Given the description of an element on the screen output the (x, y) to click on. 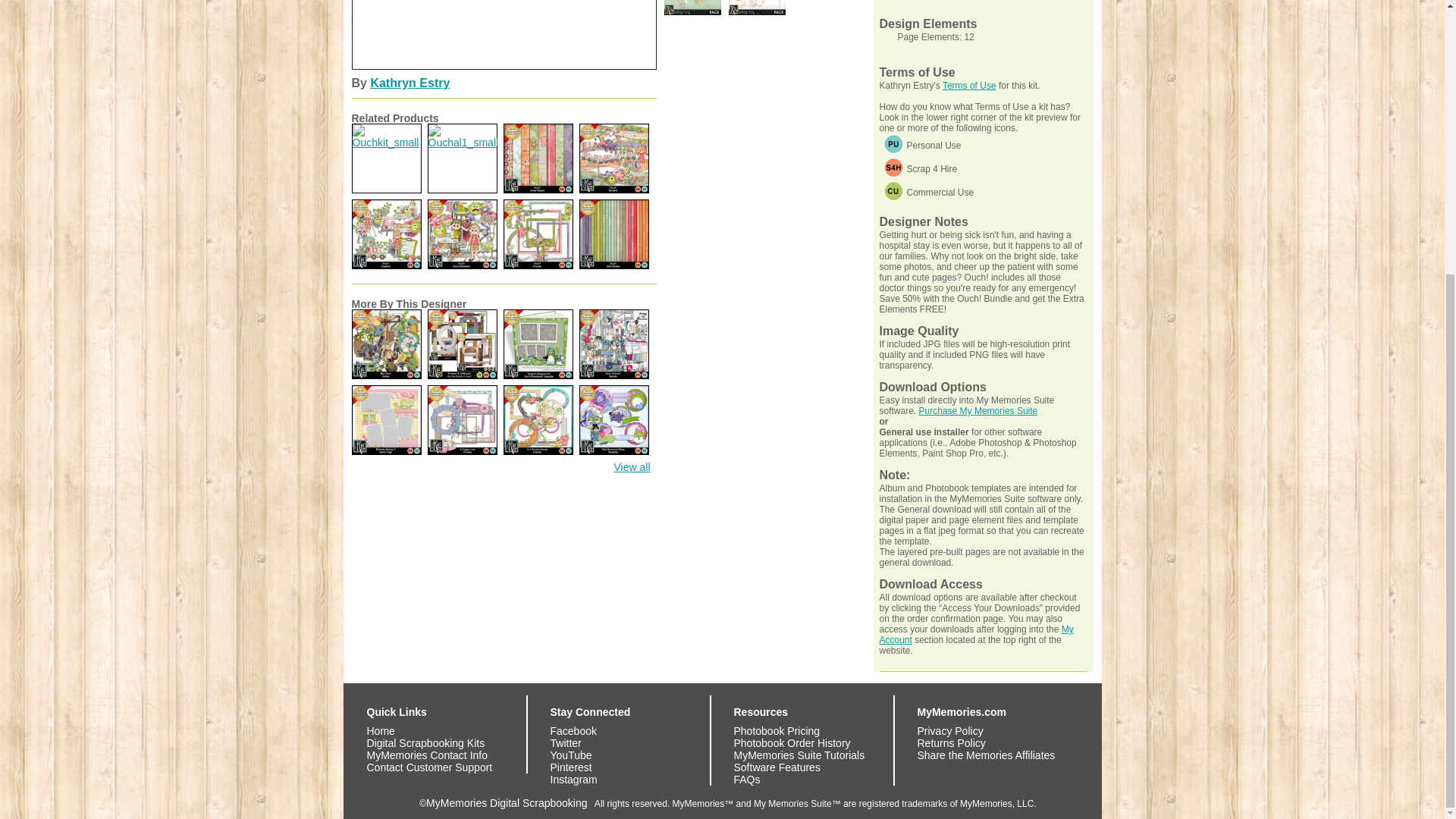
Kathryn Estry (409, 82)
View all (632, 467)
